Given the description of an element on the screen output the (x, y) to click on. 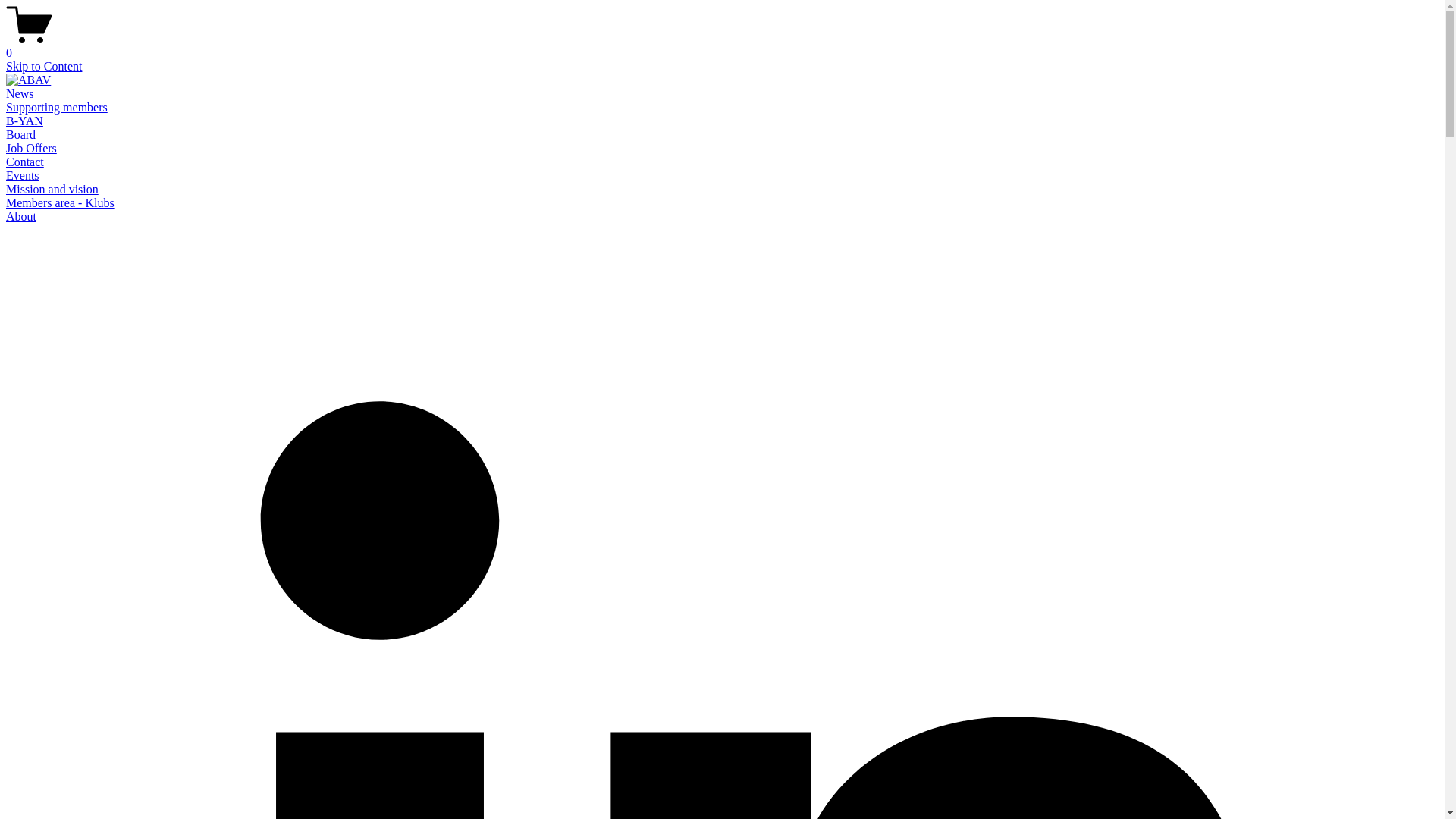
About Element type: text (21, 216)
Mission and vision Element type: text (52, 188)
0 Element type: text (722, 45)
Contact Element type: text (24, 161)
Events Element type: text (22, 175)
B-YAN Element type: text (24, 120)
News Element type: text (19, 93)
Board Element type: text (20, 134)
Skip to Content Element type: text (43, 65)
Members area - Klubs Element type: text (60, 202)
Job Offers Element type: text (31, 147)
Supporting members Element type: text (56, 106)
